Given the description of an element on the screen output the (x, y) to click on. 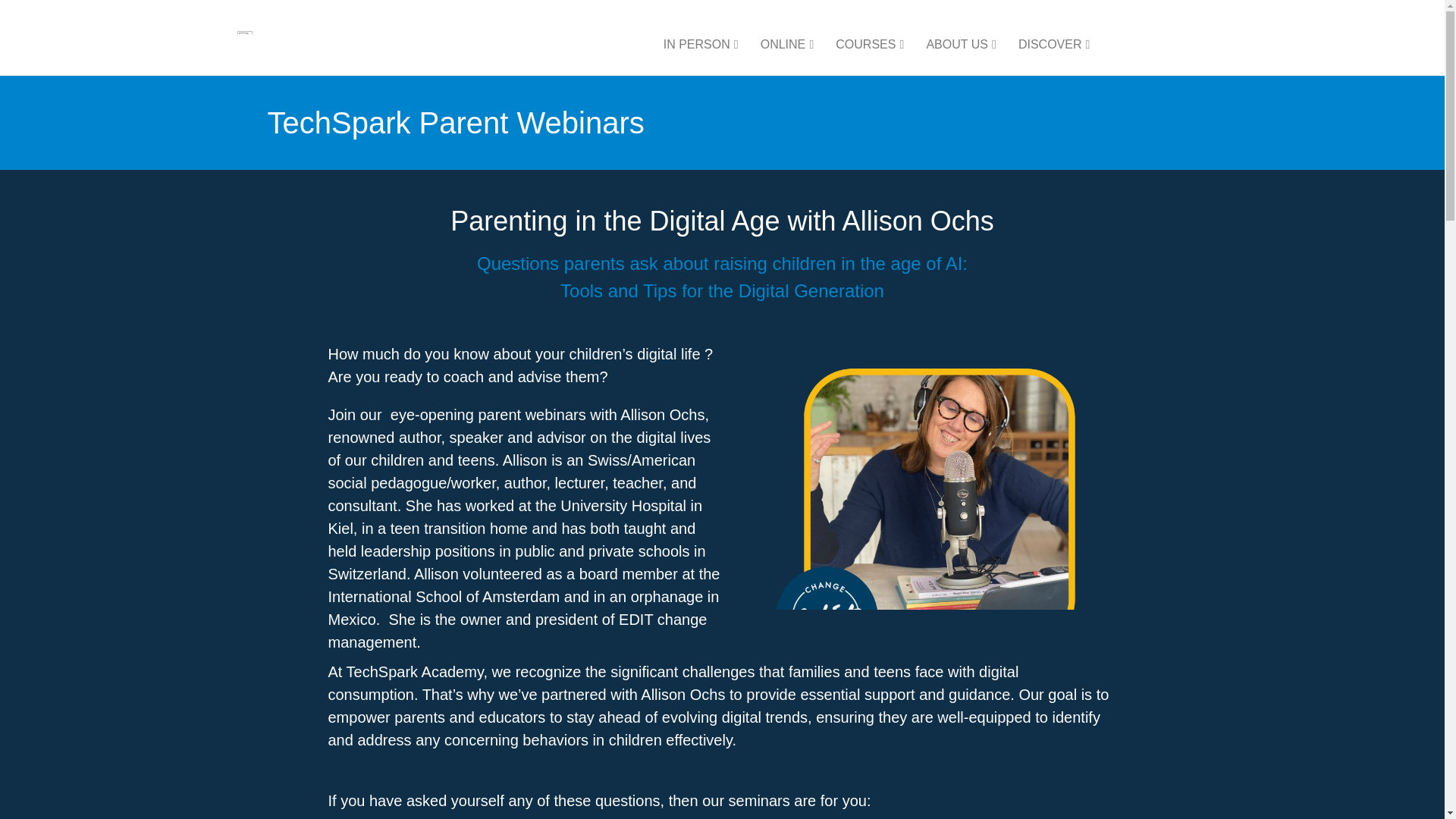
IN PERSON (696, 45)
DISCOVER (1049, 45)
COURSES (865, 45)
ONLINE (783, 45)
ABOUT US (957, 45)
